Given the description of an element on the screen output the (x, y) to click on. 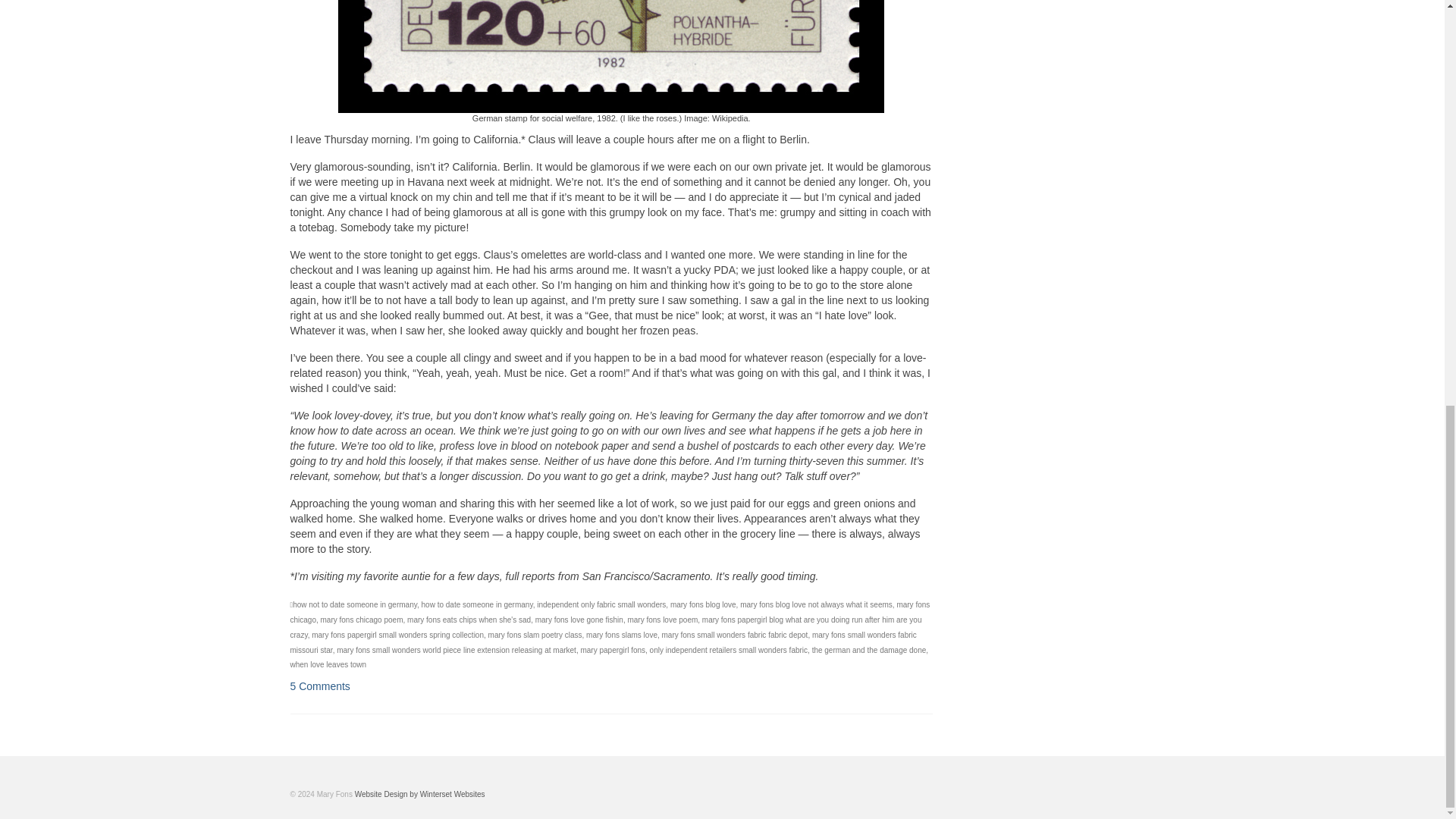
how not to date someone in germany (354, 604)
only independent retailers small wonders fabric (728, 650)
mary fons small wonders fabric fabric depot (735, 634)
the german and the damage done (869, 650)
mary fons slam poetry class (534, 634)
mary fons small wonders fabric missouri star (602, 642)
mary fons papergirl small wonders spring collection (397, 634)
mary papergirl fons (612, 650)
mary fons chicago (609, 612)
